Given the description of an element on the screen output the (x, y) to click on. 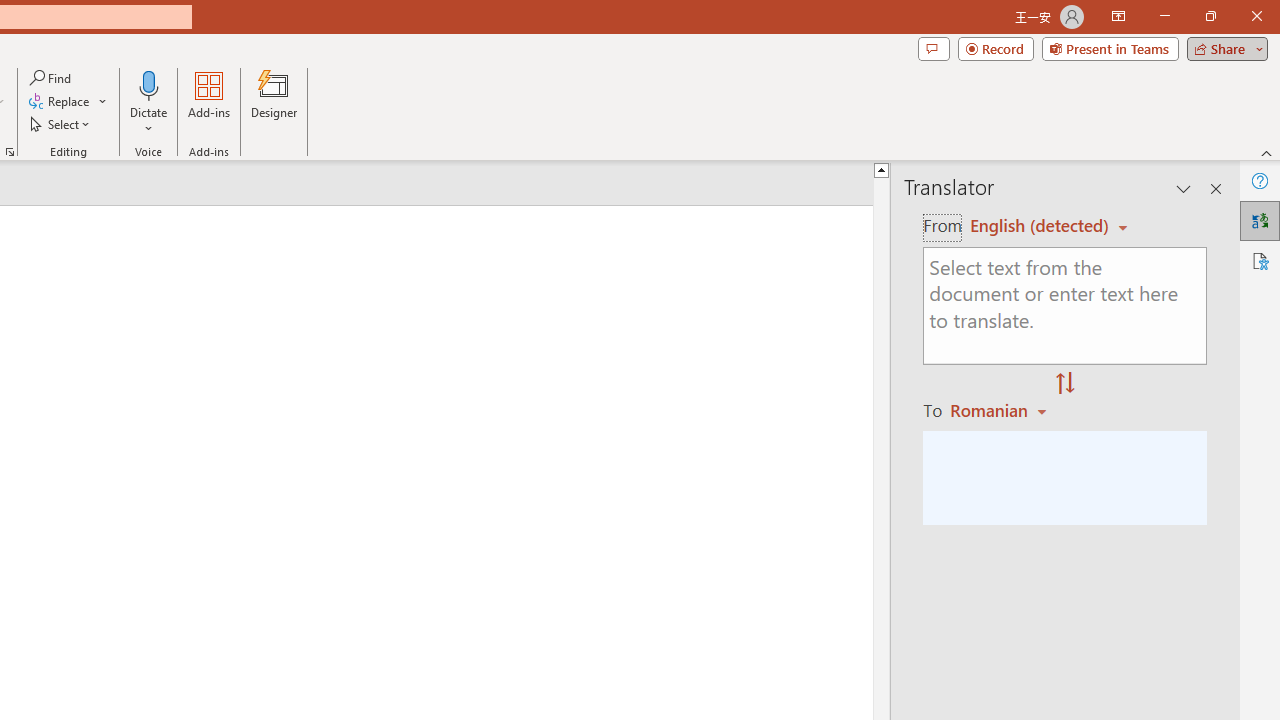
Romanian (1001, 409)
Czech (detected) (1039, 225)
